Given the description of an element on the screen output the (x, y) to click on. 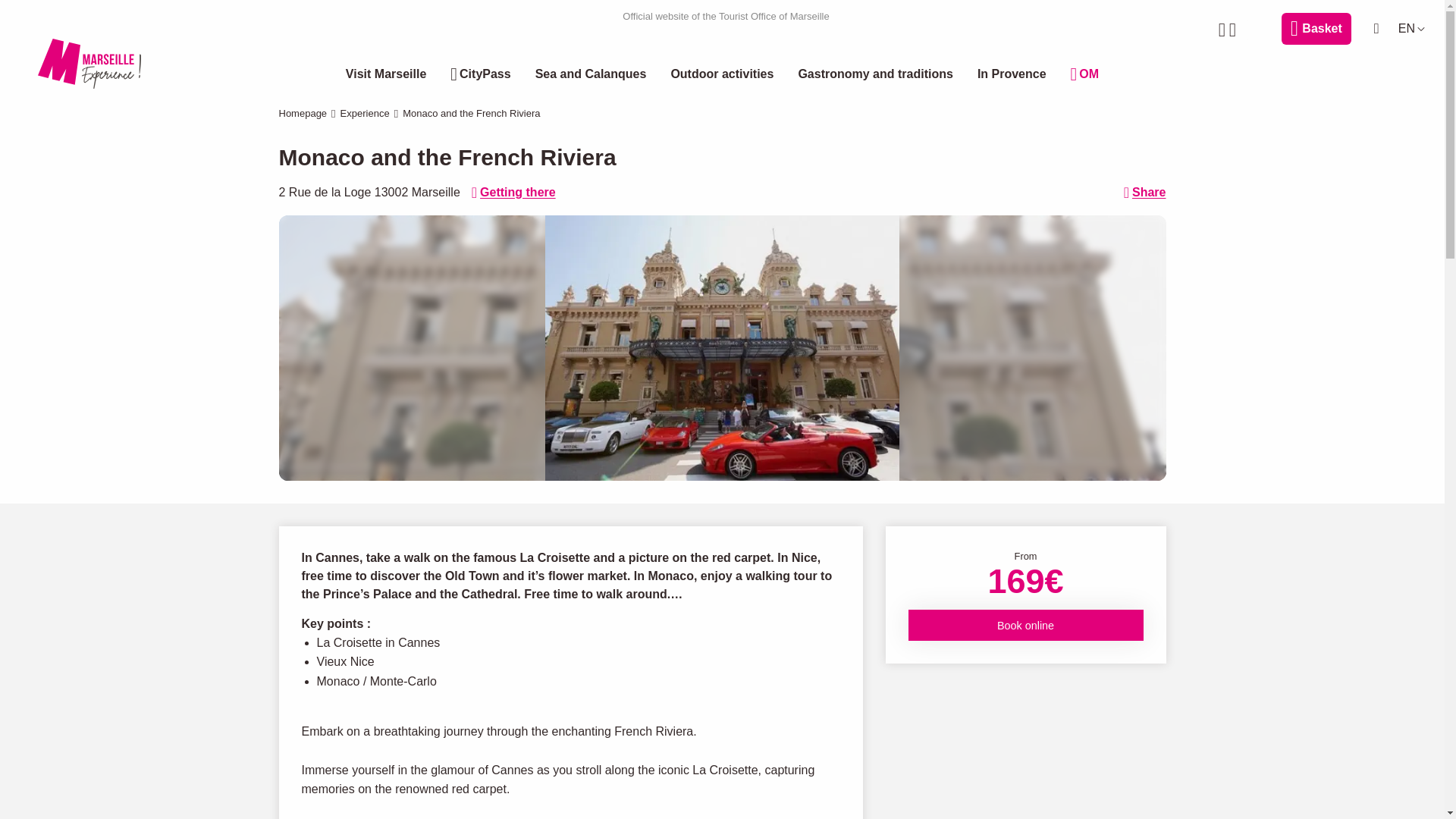
Share (1145, 191)
Panier (1316, 29)
Book online (1025, 624)
Getting there (513, 191)
Experience (365, 112)
Monaco and the French Riviera (721, 347)
Homepage (303, 112)
